Given the description of an element on the screen output the (x, y) to click on. 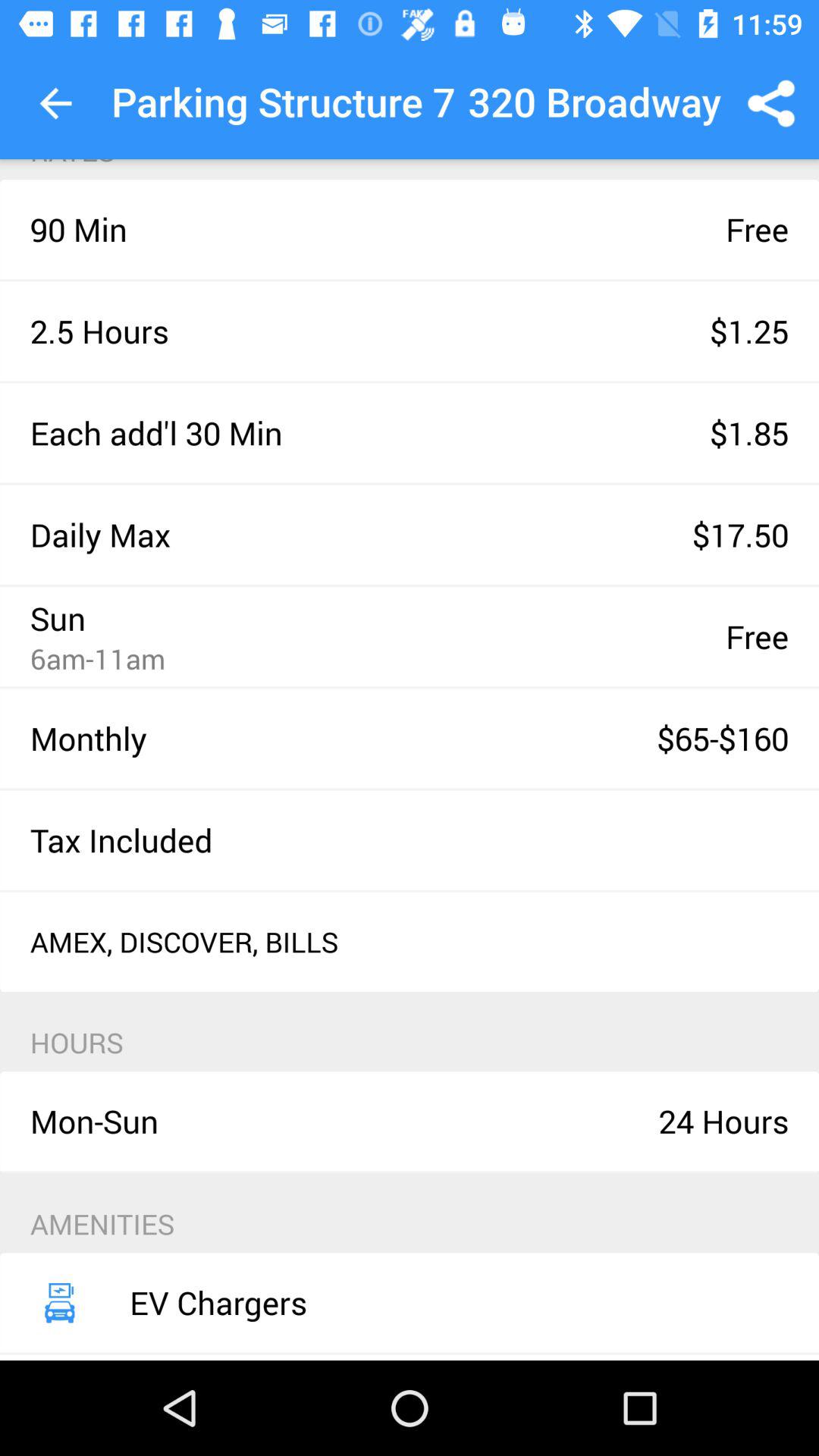
click on the icon which is beside the ev chargers (60, 1302)
